Given the description of an element on the screen output the (x, y) to click on. 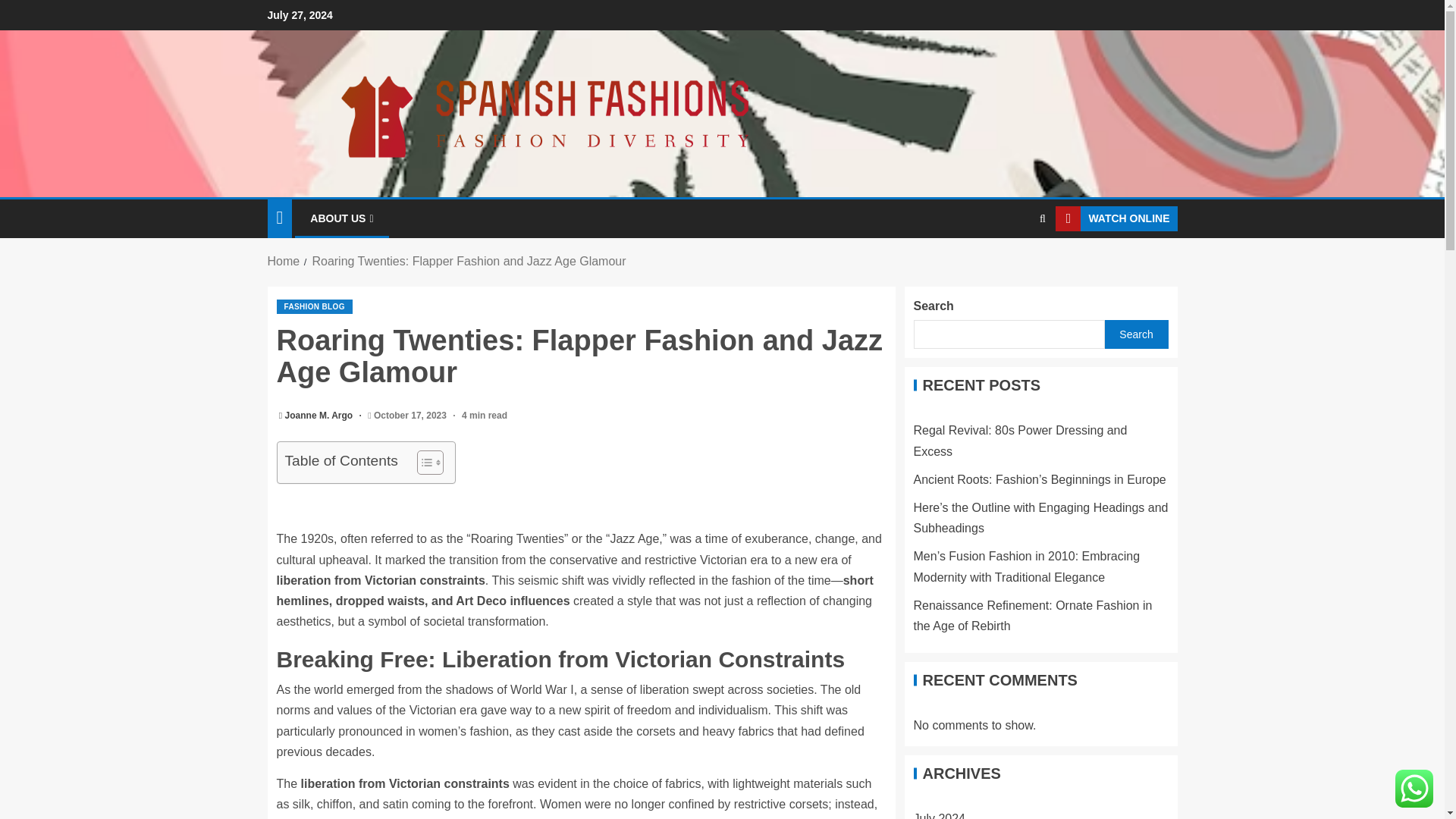
Joanne M. Argo (320, 415)
Home (282, 260)
Search (1013, 265)
FASHION BLOG (314, 306)
Roaring Twenties: Flapper Fashion and Jazz Age Glamour (468, 260)
ABOUT US (341, 218)
WATCH ONLINE (1115, 218)
